Given the description of an element on the screen output the (x, y) to click on. 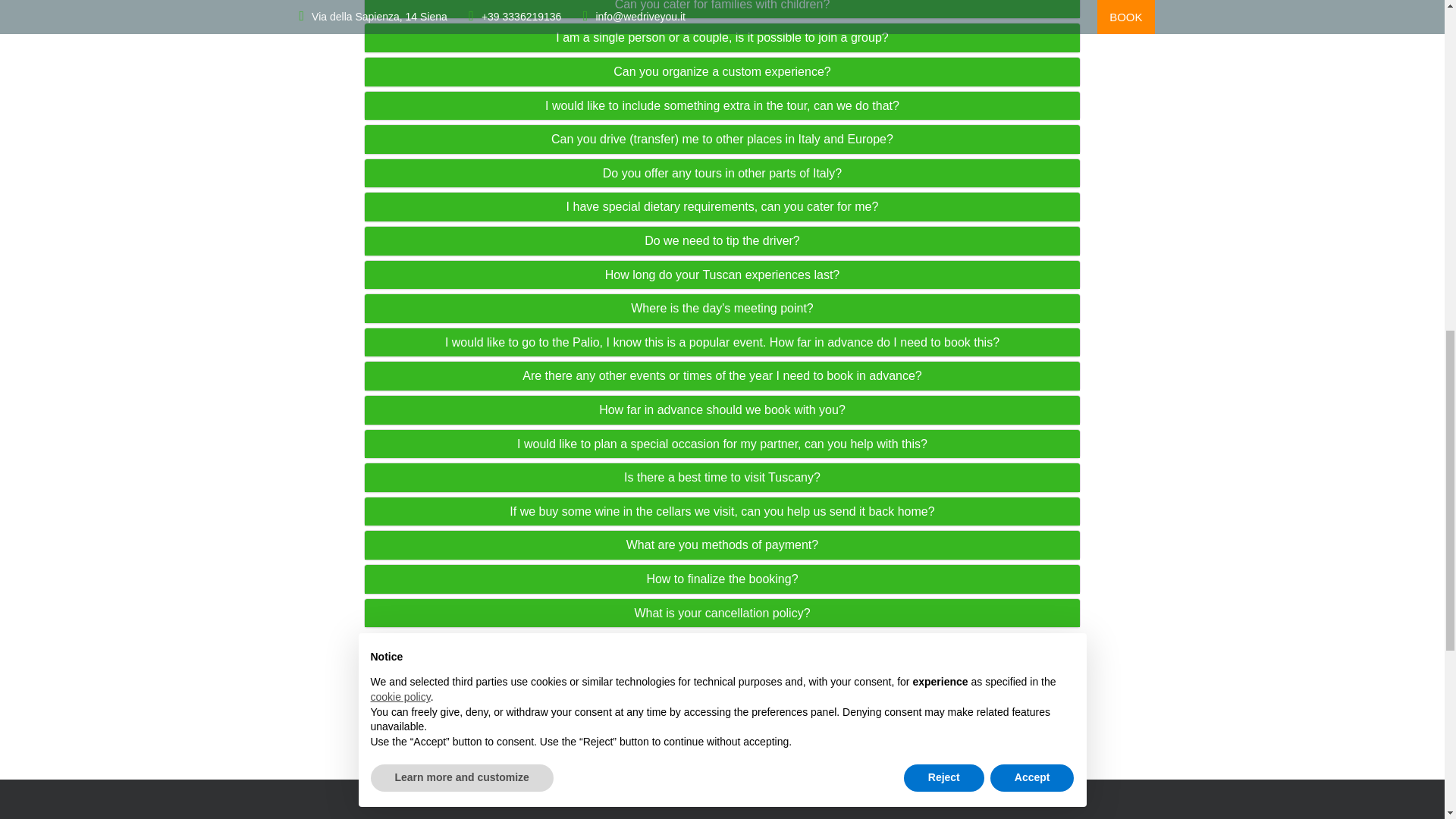
Can you cater for families with children? (721, 5)
How to finalize the booking? (721, 579)
Is there a best time to visit Tuscany? (721, 477)
Do you offer any tours in other parts of Italy? (721, 173)
How long do your Tuscan experiences last? (721, 274)
I have special dietary requirements, can you cater for me? (721, 206)
What are you methods of payment? (721, 545)
Can you organize a custom experience? (721, 71)
How far in advance should we book with you? (721, 409)
